Given the description of an element on the screen output the (x, y) to click on. 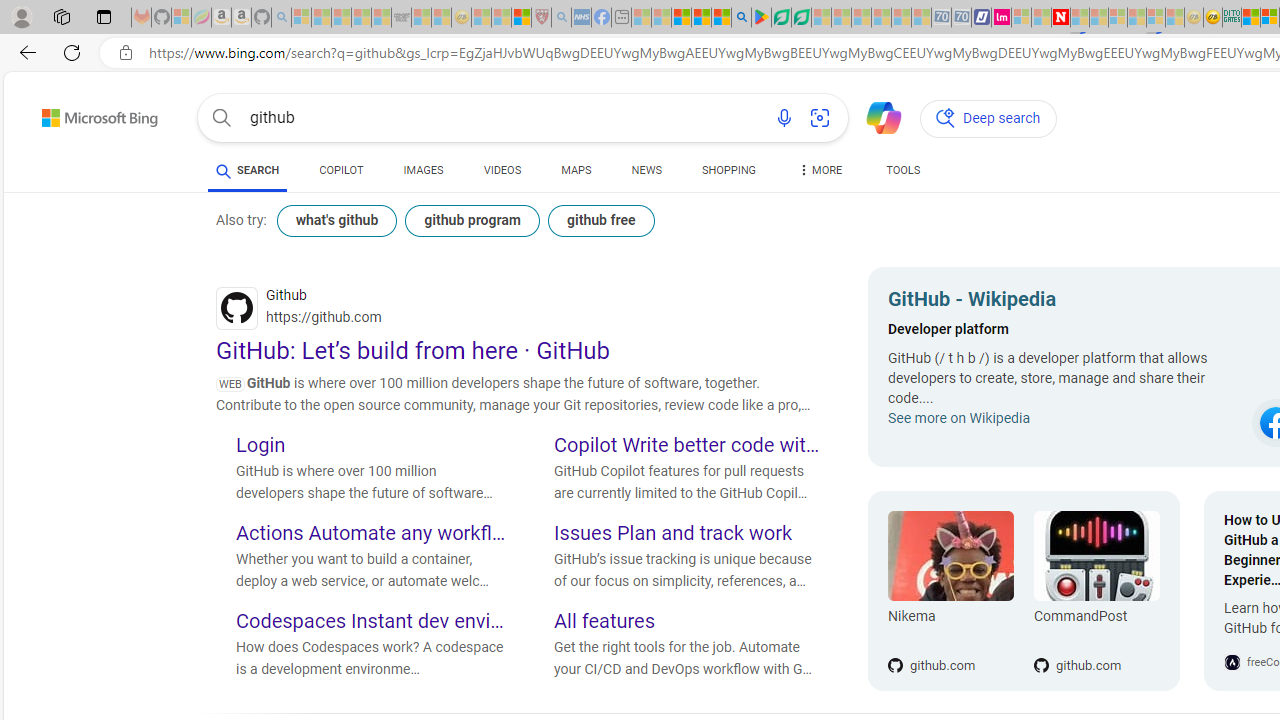
MORE (819, 173)
SEARCH (247, 170)
Local - MSN (521, 17)
TOOLS (903, 170)
Global Web Icon (1232, 662)
Search using an image (820, 117)
SEARCH (247, 170)
NEWS (646, 173)
CommandPost CommandPost github.com (1086, 591)
